Given the description of an element on the screen output the (x, y) to click on. 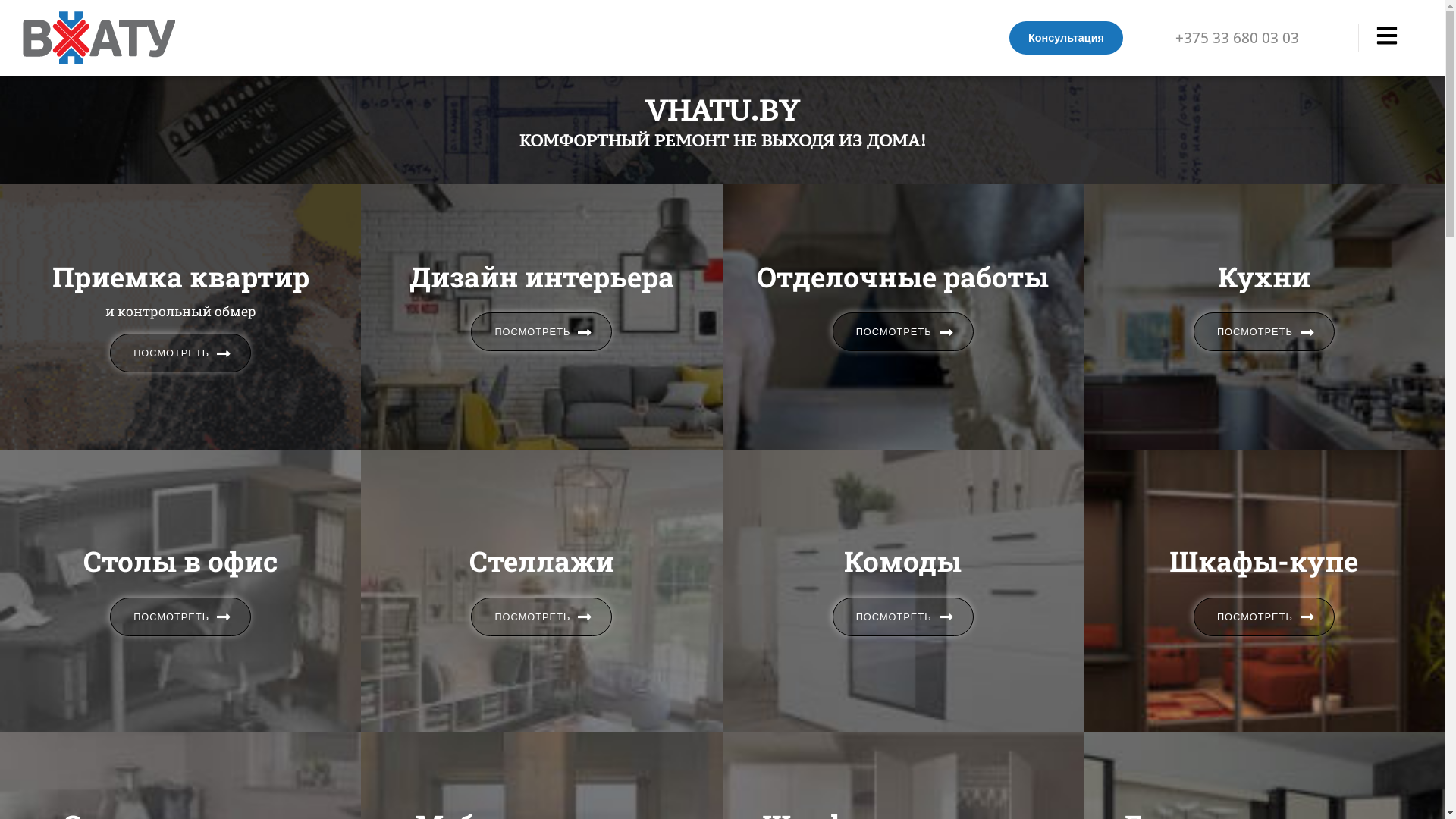
+375 33 680 03 03 Element type: text (1266, 38)
